Given the description of an element on the screen output the (x, y) to click on. 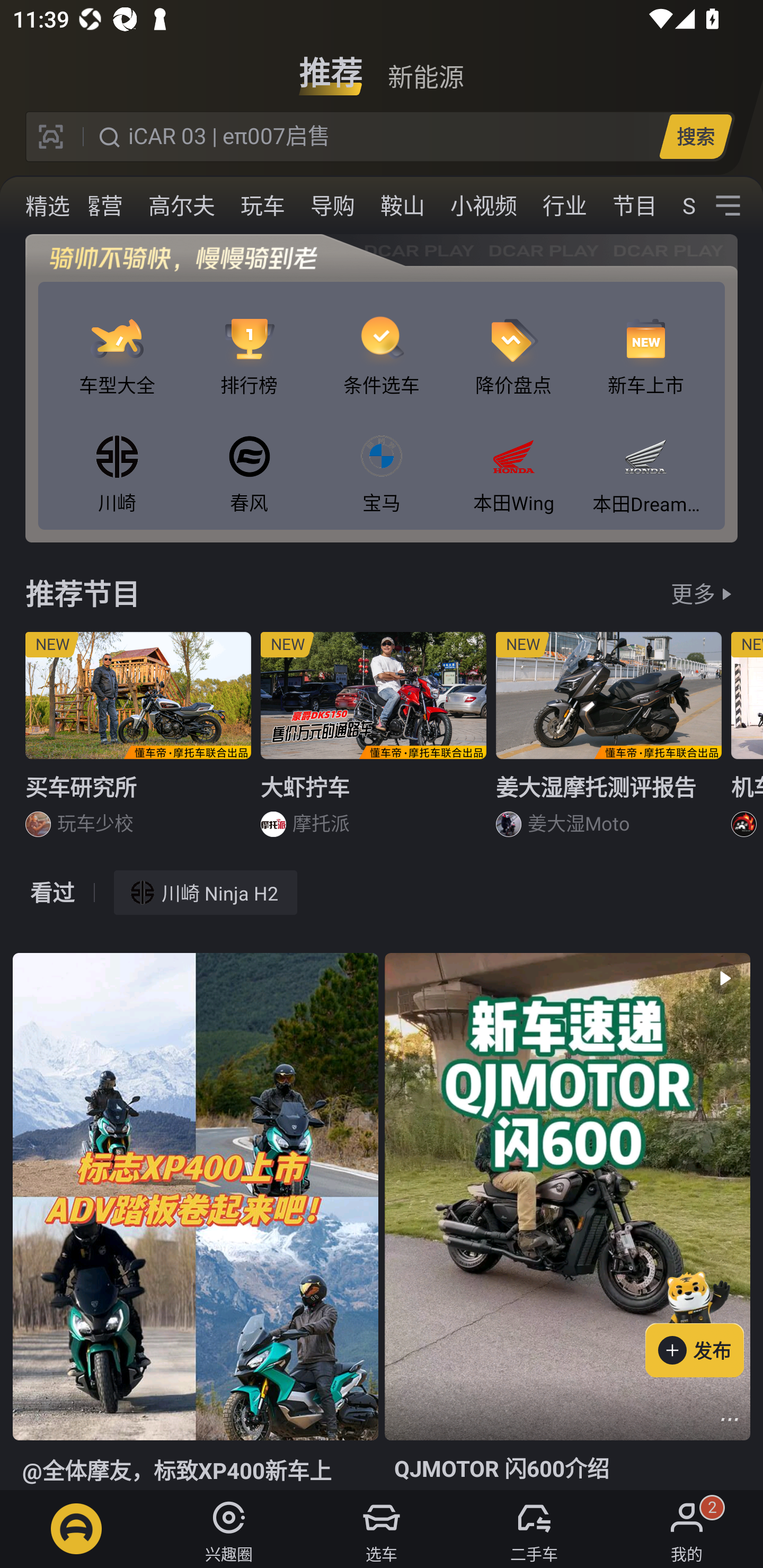
推荐 (330, 65)
新能源 (425, 65)
搜索 (695, 136)
手表 (32, 205)
露营 (100, 205)
高尔夫 (181, 205)
玩车 (262, 205)
导购 (332, 205)
鞍山 (402, 205)
小视频 (483, 205)
行业 (564, 205)
节目 (634, 205)
SUV (682, 205)
 (727, 205)
车型大全 (117, 340)
排行榜 (249, 340)
条件选车 (381, 340)
降价盘点 (513, 340)
新车上市 (645, 340)
川崎 (117, 458)
春风 (249, 458)
宝马 (381, 458)
本田Wing (513, 458)
本田DreamWing (645, 458)
更多 (692, 593)
NEW 买车研究所 玩车少校 (138, 741)
NEW 大虾拧车 摩托派 (373, 741)
NEW 姜大湿摩托测评报告 姜大湿Moto (608, 741)
川崎 Ninja H2 (205, 892)
@全体摩友，标致XP400新车上市，试驾体验抢先看！ (195, 1221)
  QJMOTOR 闪600介绍 (567, 1221)
发布 (704, 1320)
 (729, 1419)
 兴趣圈 (228, 1528)
 选车 (381, 1528)
 二手车 (533, 1528)
 我的 (686, 1528)
